Given the description of an element on the screen output the (x, y) to click on. 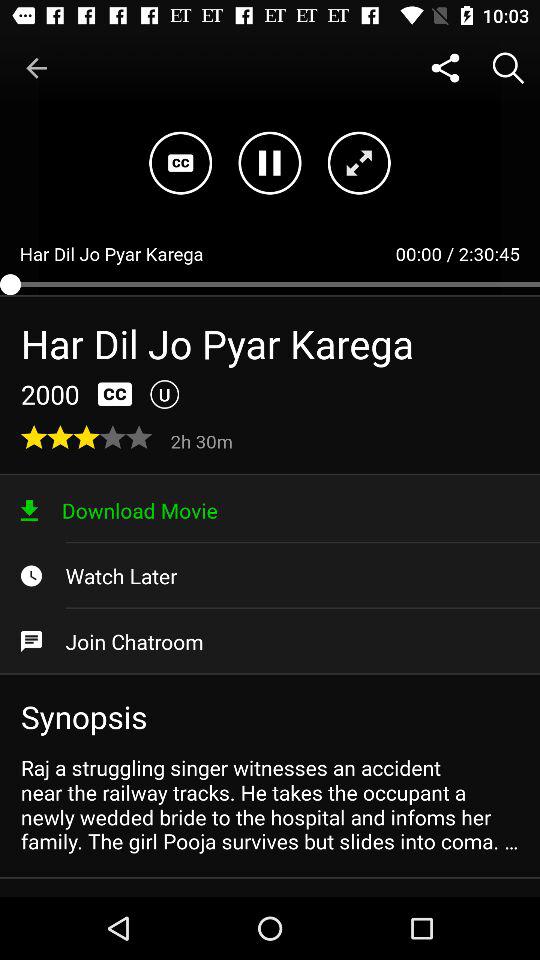
turn on 2h 30m  item (203, 440)
